Given the description of an element on the screen output the (x, y) to click on. 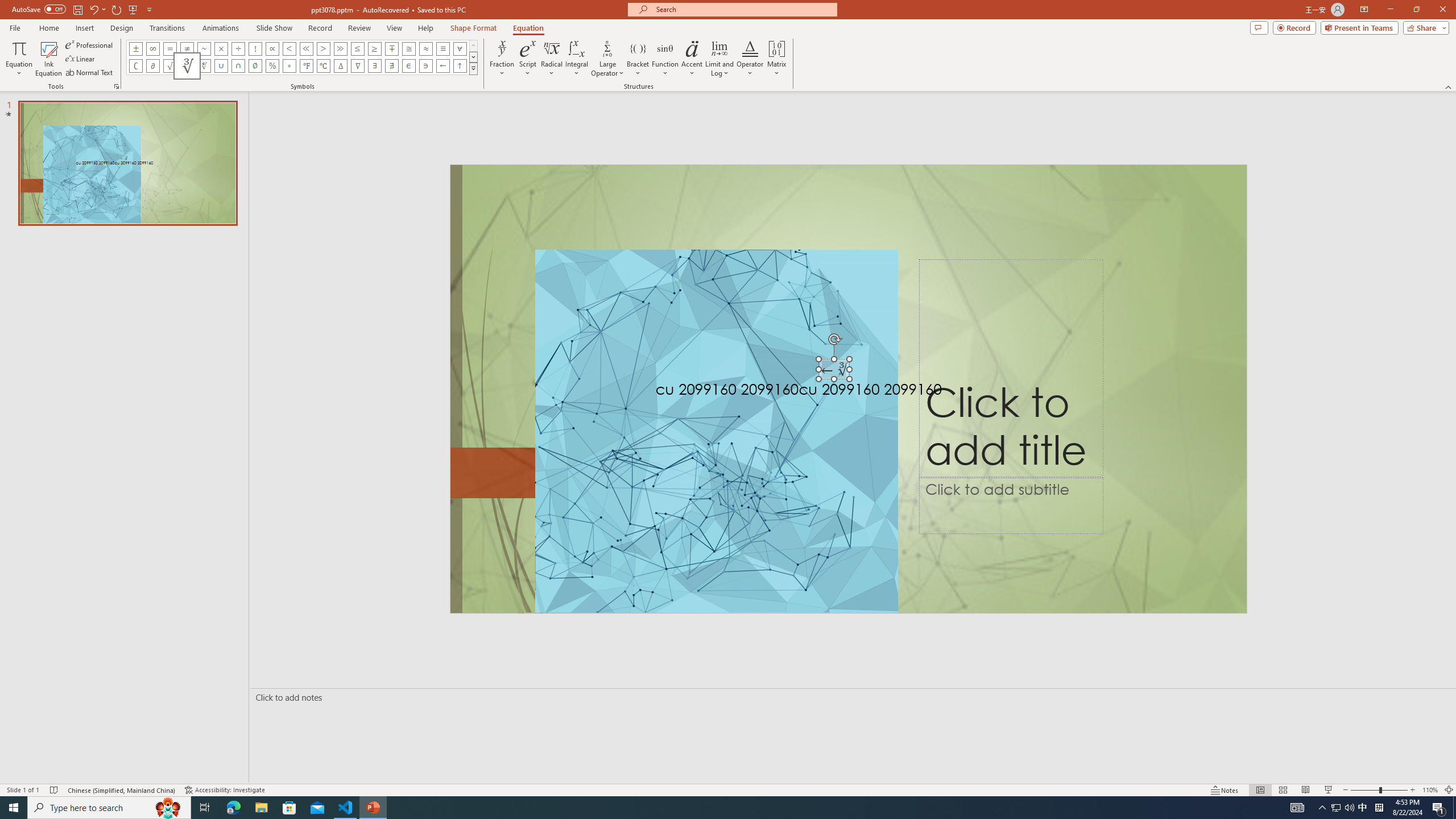
Bracket (638, 58)
Equation Symbol Much Greater Than (340, 48)
Zoom 110% (1430, 790)
Equation Symbol Partial Differential (152, 65)
Equation Symbol Degrees Celsius (322, 65)
Equation Symbol Nabla (357, 65)
Equation Symbol There Exists (374, 65)
